Given the description of an element on the screen output the (x, y) to click on. 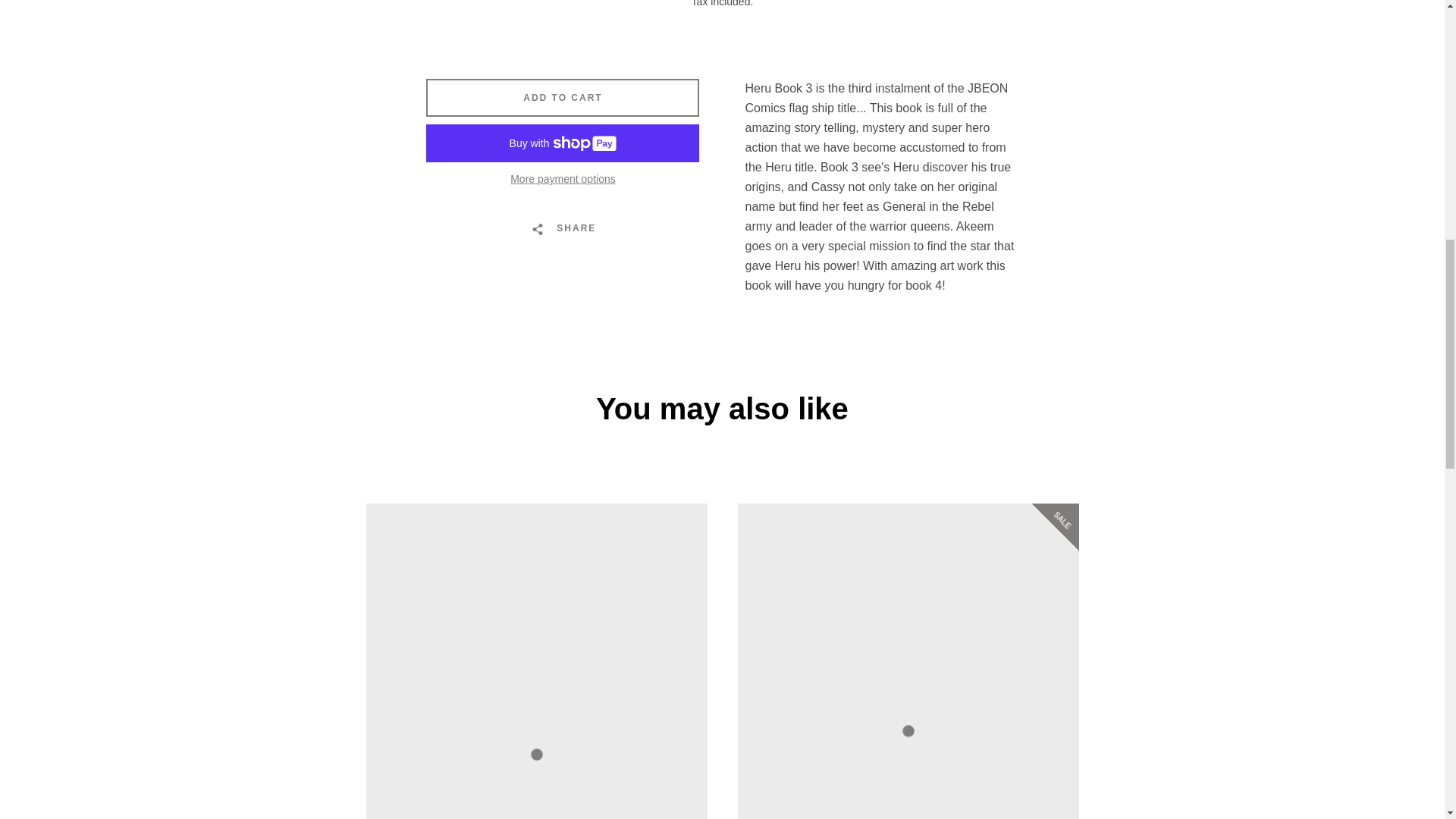
More payment options (562, 179)
ADD TO CART (562, 97)
SHARE (563, 228)
